Given the description of an element on the screen output the (x, y) to click on. 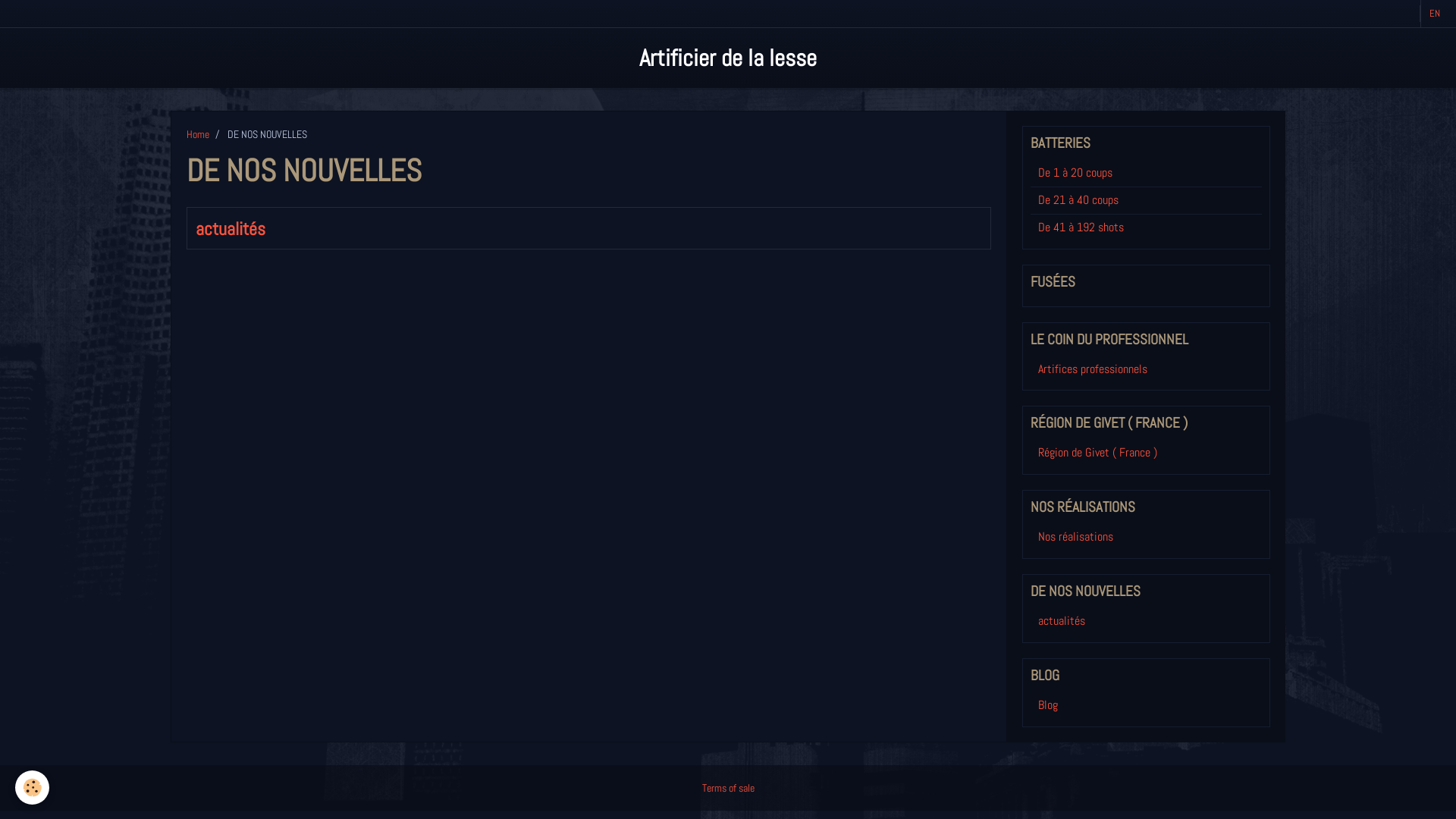
Artifices professionnels Element type: text (1145, 369)
LE COIN DU PROFESSIONNEL Element type: text (1145, 339)
BATTERIES Element type: text (1145, 143)
Blog Element type: text (1145, 705)
Terms of sale Element type: text (728, 787)
Home Element type: text (197, 134)
Artificier de la lesse Element type: text (727, 57)
EN Element type: text (1434, 13)
DE NOS NOUVELLES Element type: text (1145, 591)
